Given the description of an element on the screen output the (x, y) to click on. 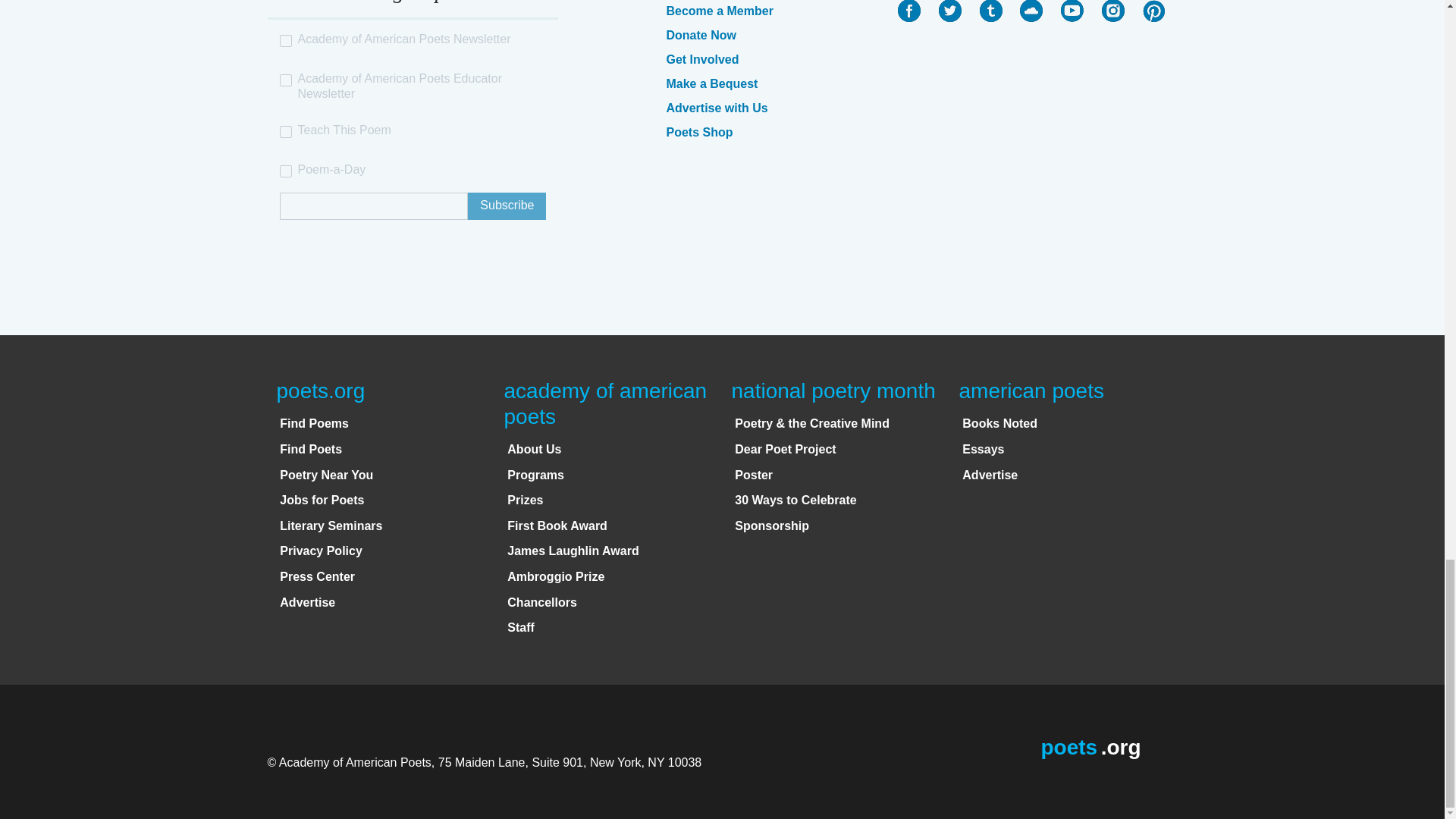
Literary Seminars (330, 525)
Jobs for Poets (321, 499)
Poetry Near You (325, 474)
Subscribe (506, 206)
